Given the description of an element on the screen output the (x, y) to click on. 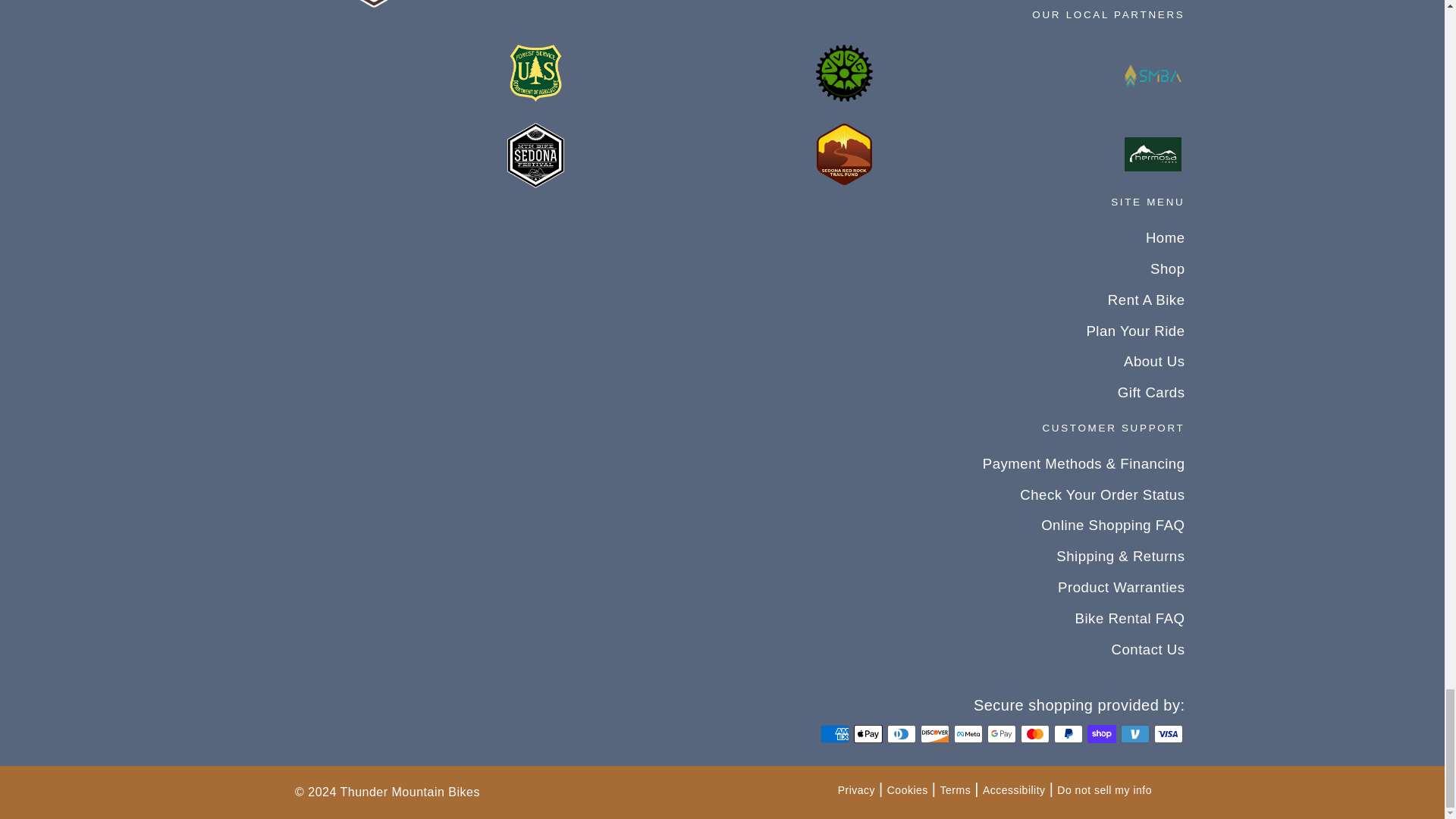
Visa (1168, 733)
Apple Pay (867, 733)
Mastercard (1034, 733)
Diners Club (900, 733)
Google Pay (1001, 733)
Meta Pay (967, 733)
PayPal (1068, 733)
Discover (934, 733)
American Express (834, 733)
Venmo (1135, 733)
Shop Pay (1101, 733)
